Given the description of an element on the screen output the (x, y) to click on. 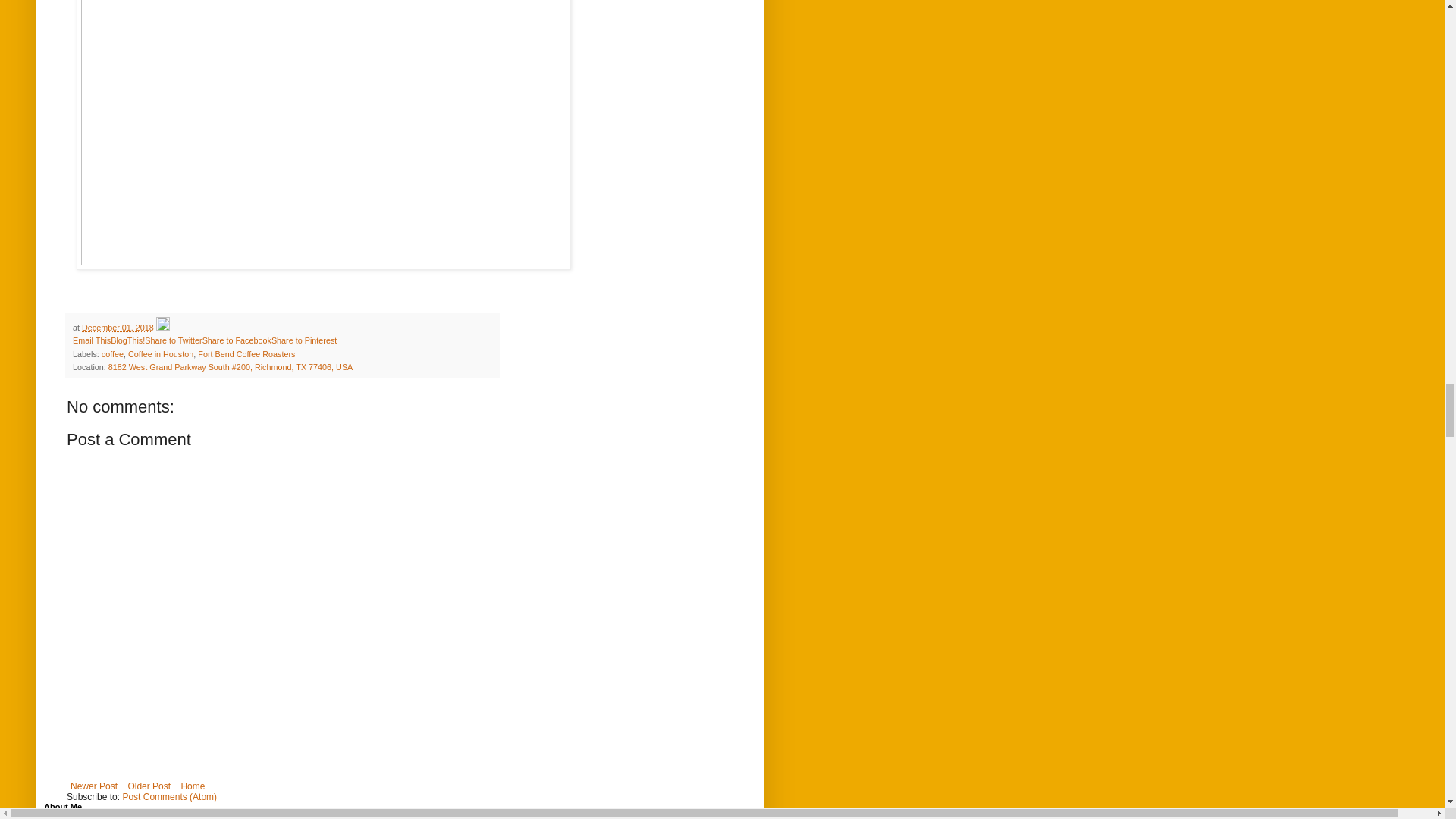
Share to Twitter (173, 339)
Email This (91, 339)
Newer Post (93, 786)
Share to Pinterest (303, 339)
Email This (91, 339)
Edit Post (162, 327)
Older Post (148, 786)
permanent link (117, 327)
Home (192, 786)
coffee (112, 353)
BlogThis! (127, 339)
December 01, 2018 (117, 327)
Share to Twitter (173, 339)
Share to Pinterest (303, 339)
BlogThis! (127, 339)
